Given the description of an element on the screen output the (x, y) to click on. 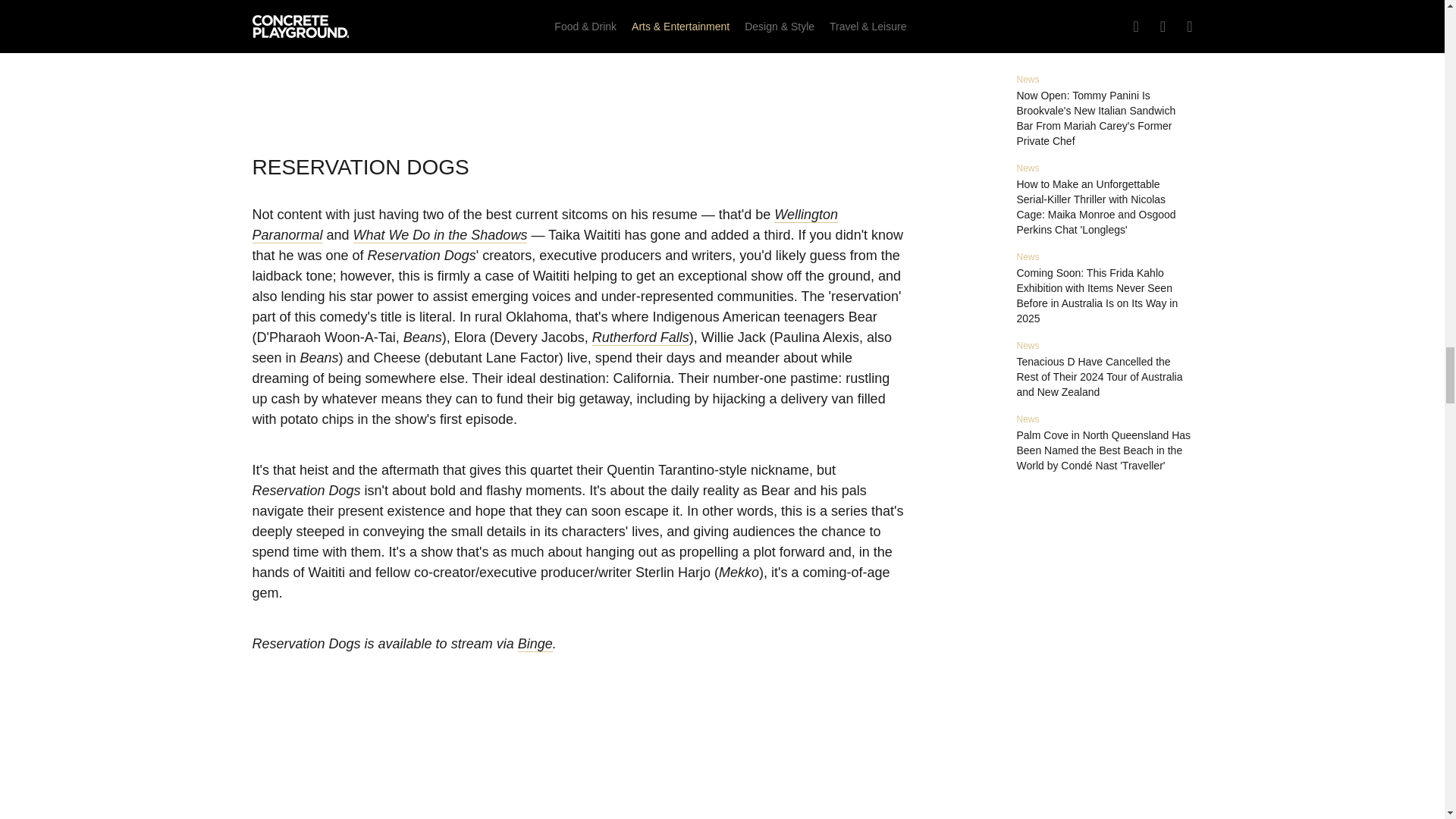
YouTube video player (577, 767)
YouTube video player (577, 57)
